Given the description of an element on the screen output the (x, y) to click on. 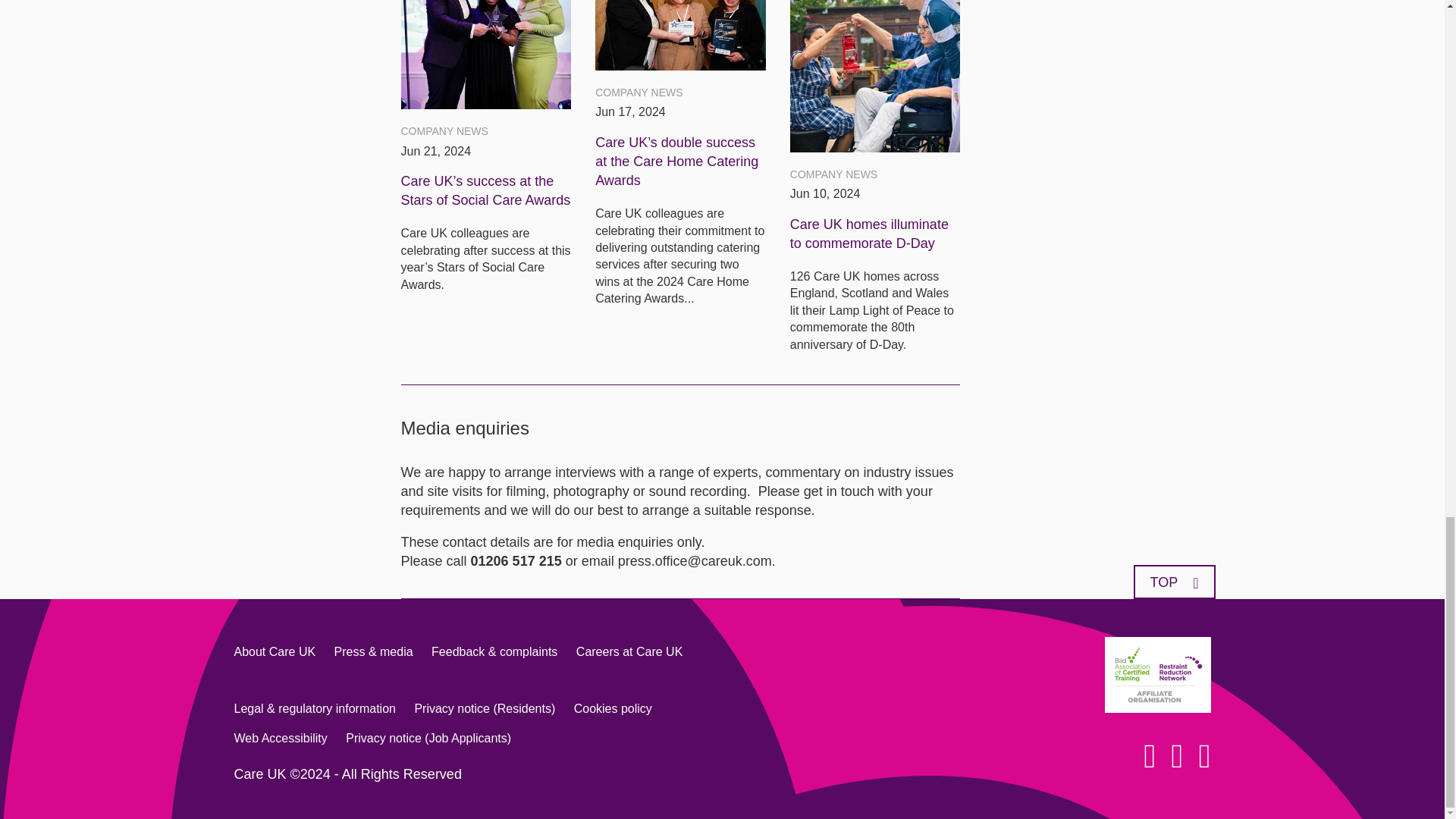
TOP (1173, 581)
